Given the description of an element on the screen output the (x, y) to click on. 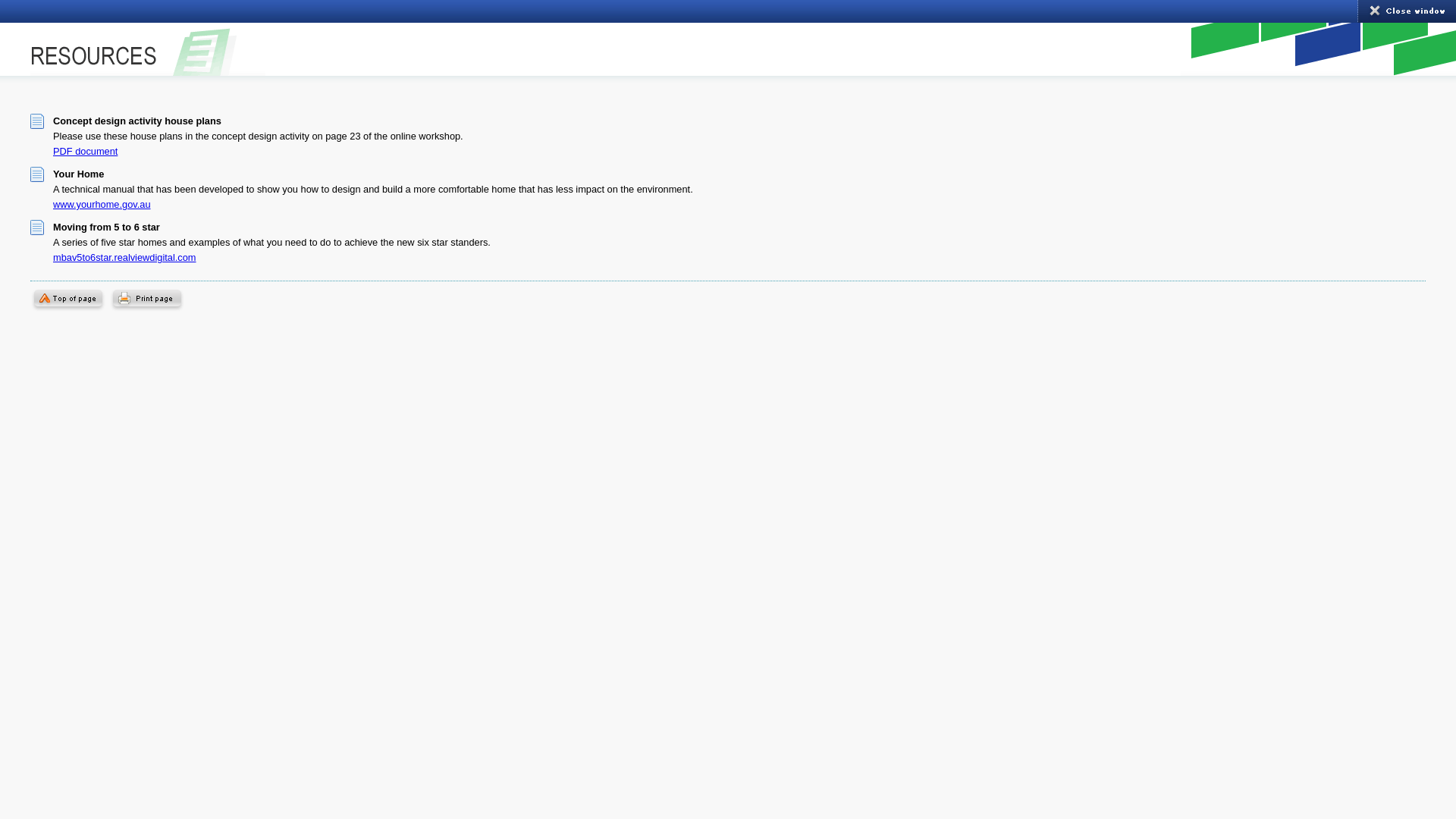
PDF document Element type: text (85, 150)
www.yourhome.gov.au Element type: text (101, 204)
mbav5to6star.realviewdigital.com Element type: text (124, 257)
